Given the description of an element on the screen output the (x, y) to click on. 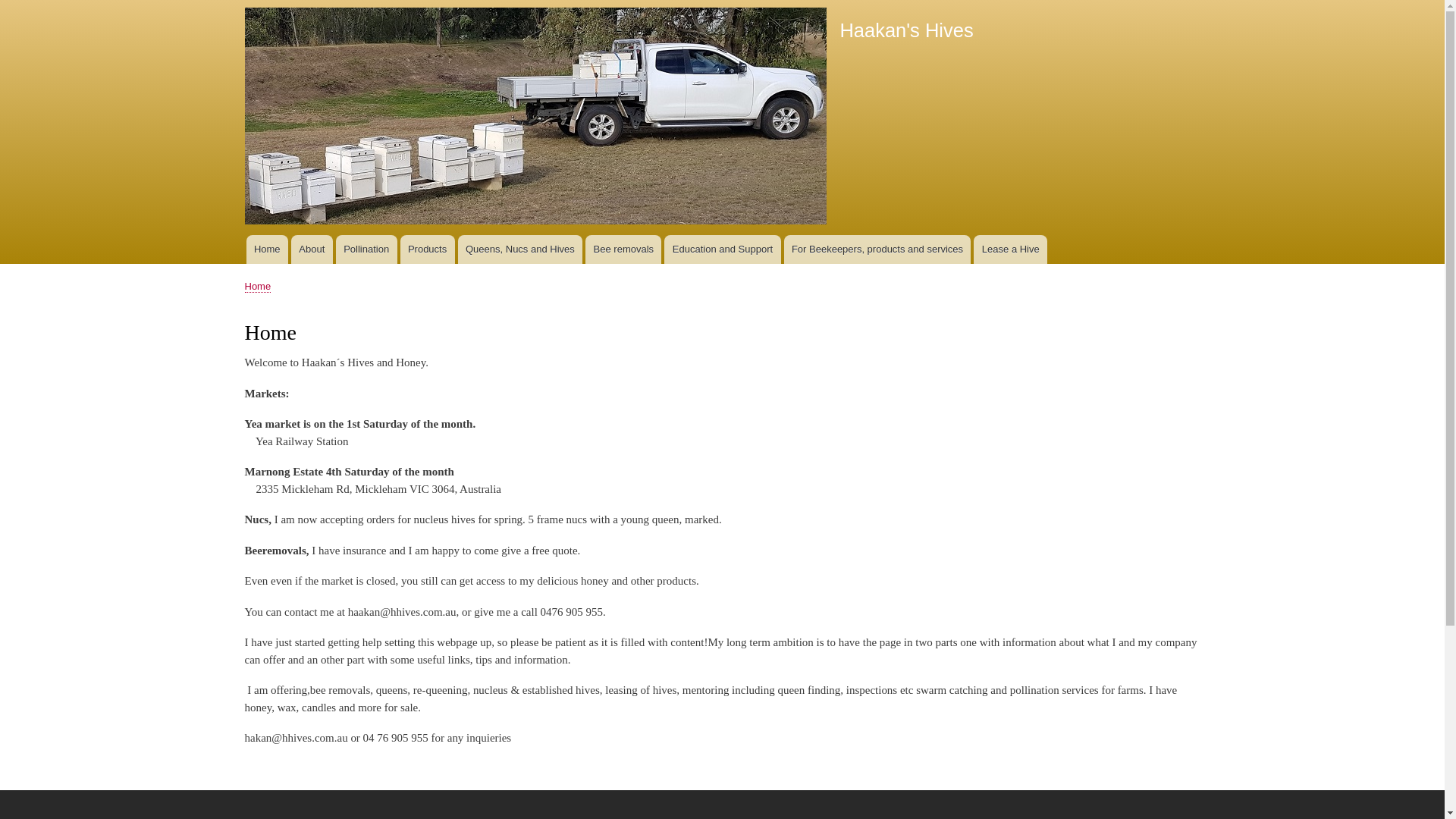
Home Element type: hover (534, 118)
Skip to main content Element type: text (722, 1)
Lease a Hive Element type: text (1010, 249)
Education and Support Element type: text (722, 249)
Haakan's Hives Element type: text (905, 29)
About Element type: text (311, 249)
Queens, Nucs and Hives Element type: text (520, 249)
Home Element type: text (257, 286)
Products Element type: text (427, 249)
Pollination Element type: text (366, 249)
Home Element type: text (266, 249)
Bee removals Element type: text (623, 249)
For Beekeepers, products and services Element type: text (877, 249)
